Given the description of an element on the screen output the (x, y) to click on. 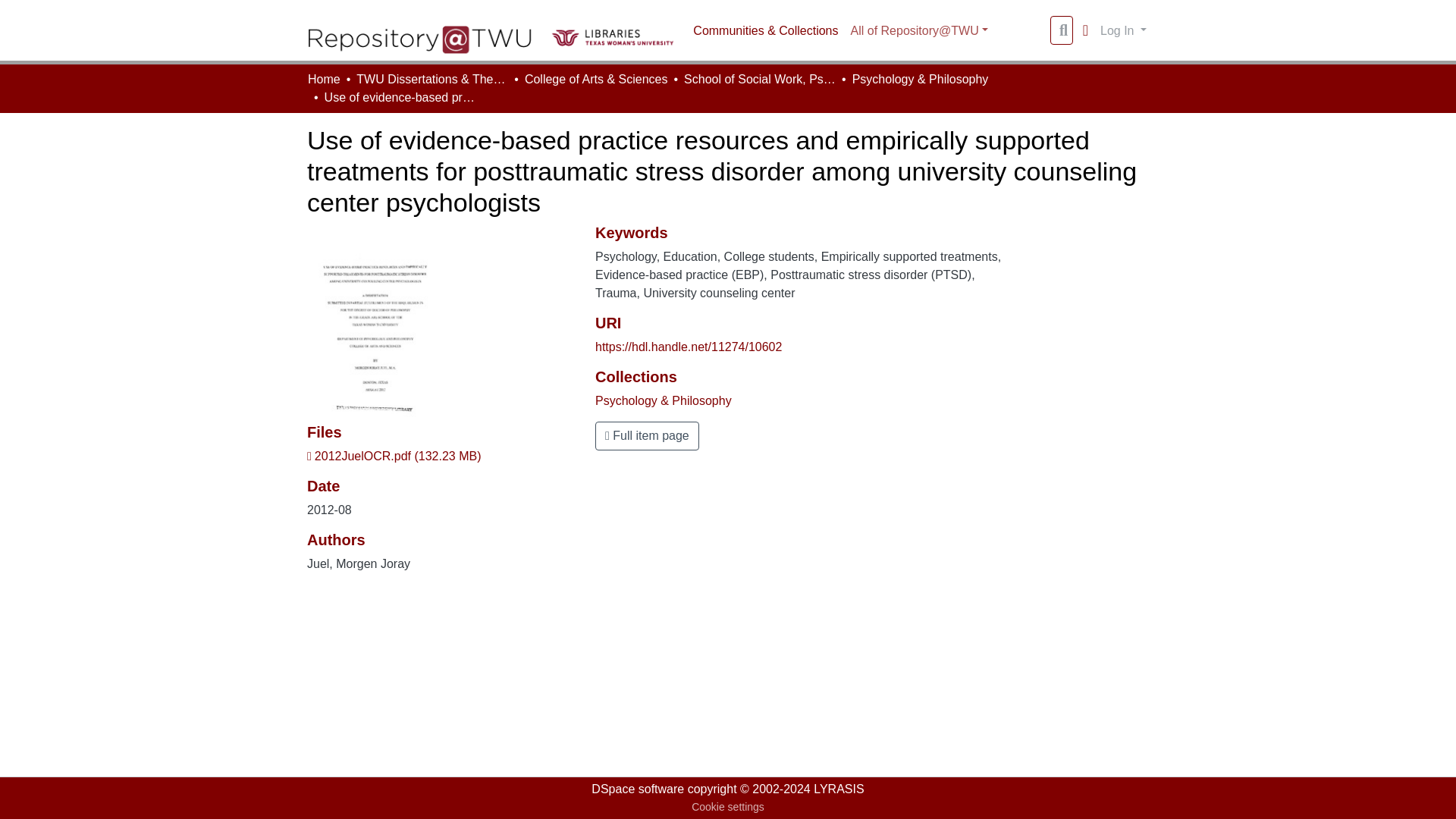
Full item page (646, 435)
Cookie settings (727, 806)
Home (323, 79)
Log In (1122, 30)
Language switch (1084, 30)
Search (1063, 30)
DSpace software (637, 788)
LYRASIS (838, 788)
